Given the description of an element on the screen output the (x, y) to click on. 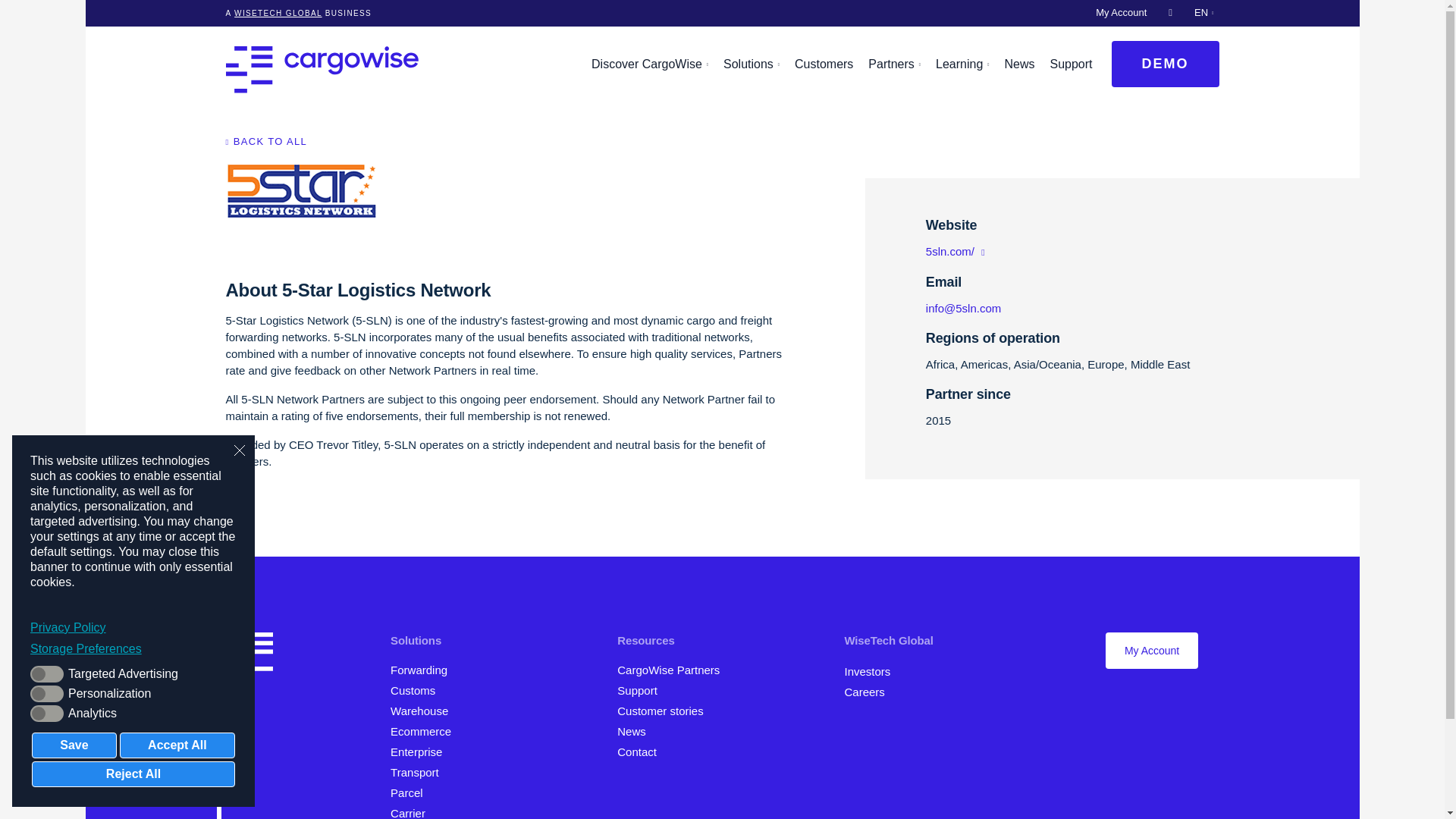
WISETECH GLOBAL (277, 13)
Ecommerce (425, 730)
Global Trade Management and Compliance (417, 689)
CargoWise (322, 69)
Find a Partner (673, 669)
CargoWise Parcel (413, 792)
News (636, 730)
Enterprise Tools (421, 751)
Discover CargoWise (649, 64)
Warehouse Management (424, 710)
CargoWise Home (249, 654)
DEMO (1166, 63)
Domestic Transport Management (419, 771)
WiseTech Global (277, 13)
Reject All (133, 774)
